Given the description of an element on the screen output the (x, y) to click on. 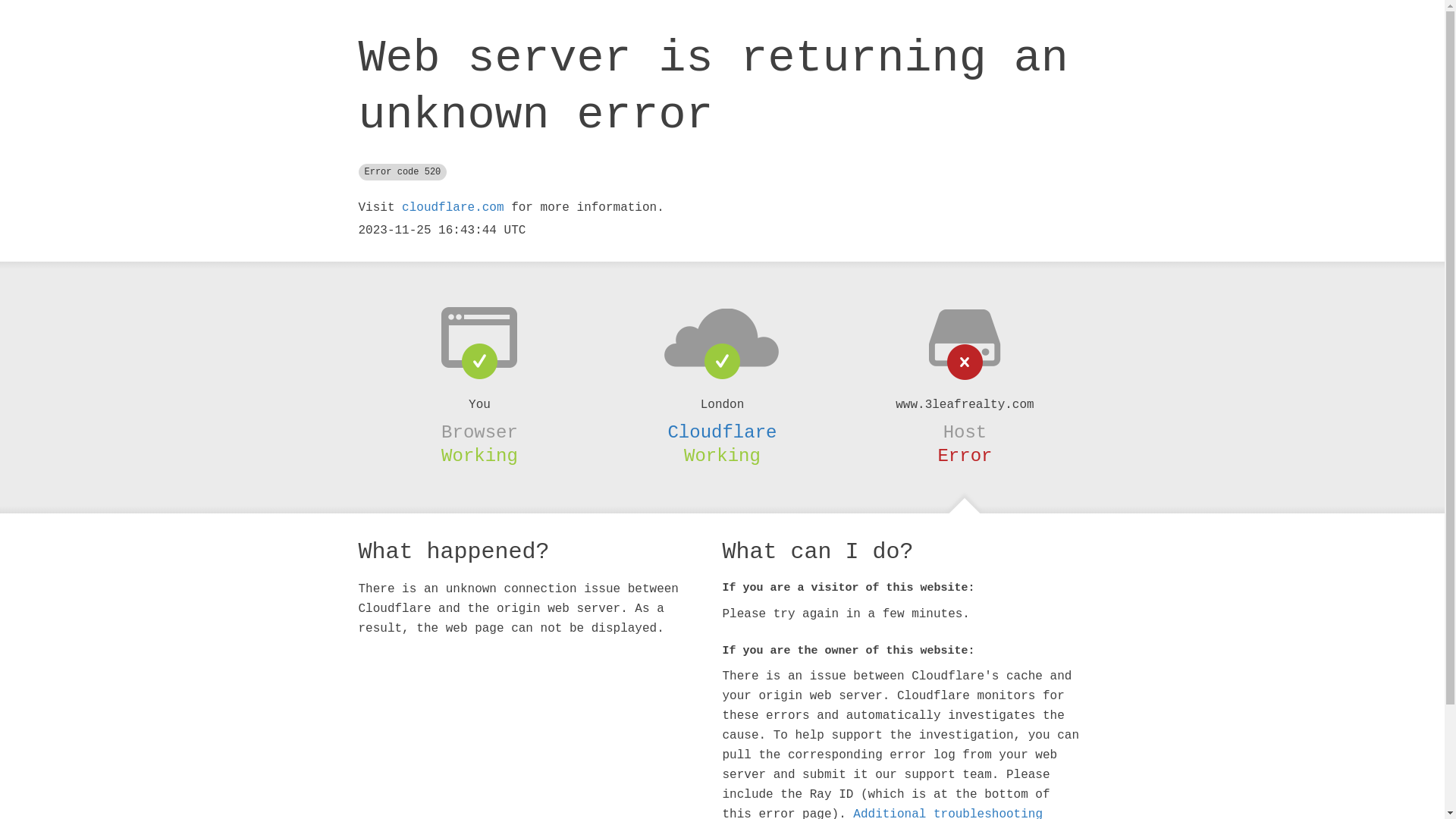
Cloudflare Element type: text (721, 432)
cloudflare.com Element type: text (452, 207)
